Given the description of an element on the screen output the (x, y) to click on. 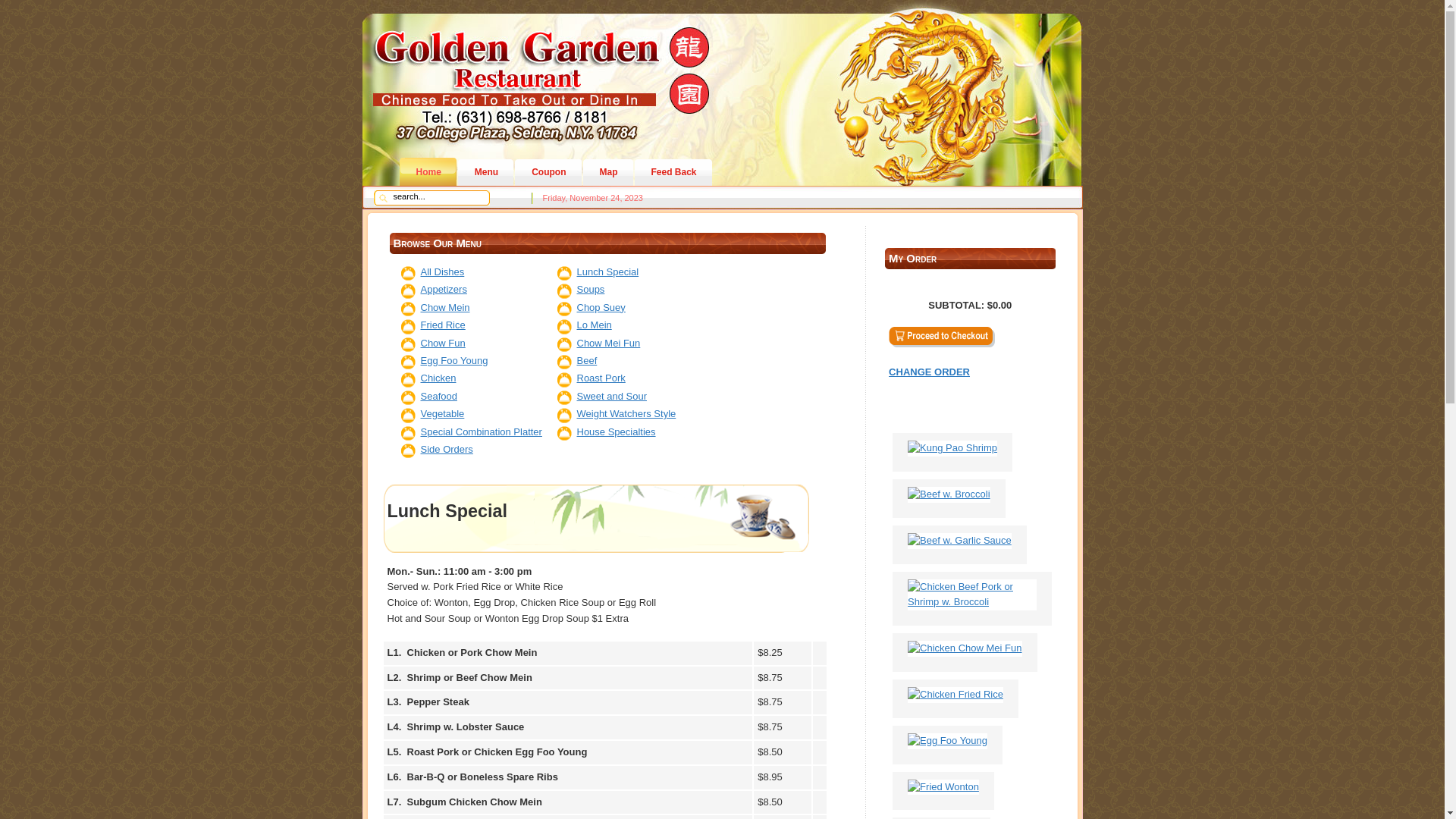
Chop Suey Element type: text (600, 307)
Kung Pao Shrimp Element type: hover (955, 447)
Fried Wonton Element type: hover (946, 786)
Beef w. Garlic Sauce Element type: hover (963, 540)
Chicken Beef Pork or Shrimp w. Broccoli Element type: hover (975, 601)
Sweet and Sour Element type: text (611, 395)
Menu Element type: text (485, 171)
Coupon Element type: text (547, 171)
Chow Mei Fun Element type: text (608, 342)
Beef Element type: text (586, 360)
Home Element type: text (426, 171)
Friday, November 24, 2023 Element type: text (592, 197)
CHANGE ORDER Element type: text (969, 384)
House Specialties Element type: text (615, 431)
Chicken Chow Mei Fun Element type: hover (975, 670)
Chow Mein Element type: text (444, 307)
Fried Rice Element type: text (442, 324)
Beef w. Broccoli Element type: hover (952, 493)
Side Orders Element type: text (446, 449)
Chow Fun Element type: text (442, 342)
Vegetable Element type: text (442, 413)
Special Combination Platter Element type: text (480, 431)
Seafood Element type: text (438, 395)
Feed Back Element type: text (673, 171)
Chicken Fried Rice Element type: hover (959, 693)
Soups Element type: text (590, 288)
Weight Watchers Style Element type: text (625, 413)
Map Element type: text (608, 171)
All Dishes Element type: text (442, 271)
Chicken Element type: text (437, 377)
Lo Mein Element type: text (593, 324)
Appetizers Element type: text (443, 288)
Lunch Special Element type: text (607, 271)
Egg Foo Young Element type: hover (951, 740)
Roast Pork Element type: text (600, 377)
Egg Foo Young Element type: text (453, 360)
